Given the description of an element on the screen output the (x, y) to click on. 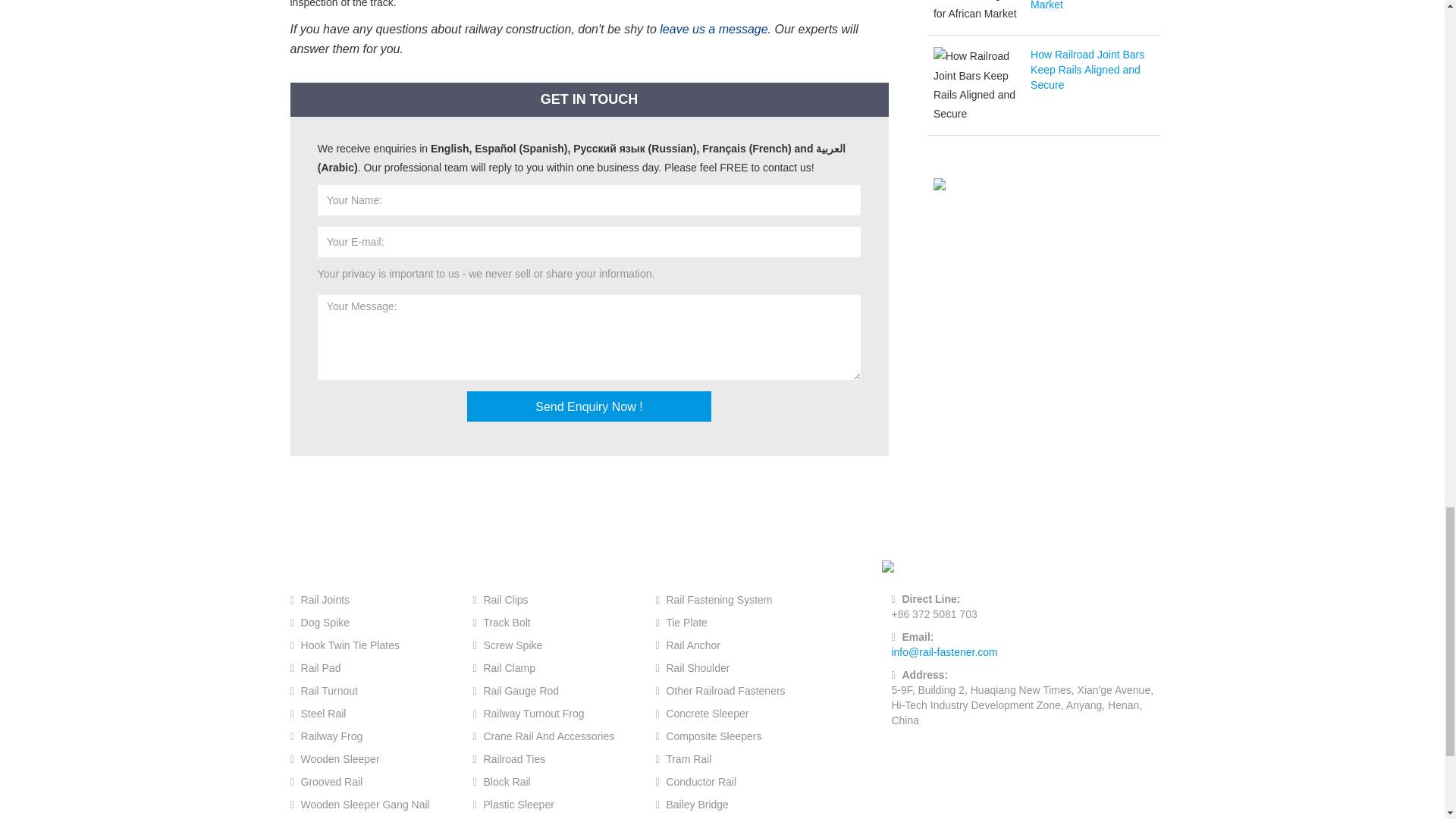
Send Enquiry Now ! (589, 406)
